Given the description of an element on the screen output the (x, y) to click on. 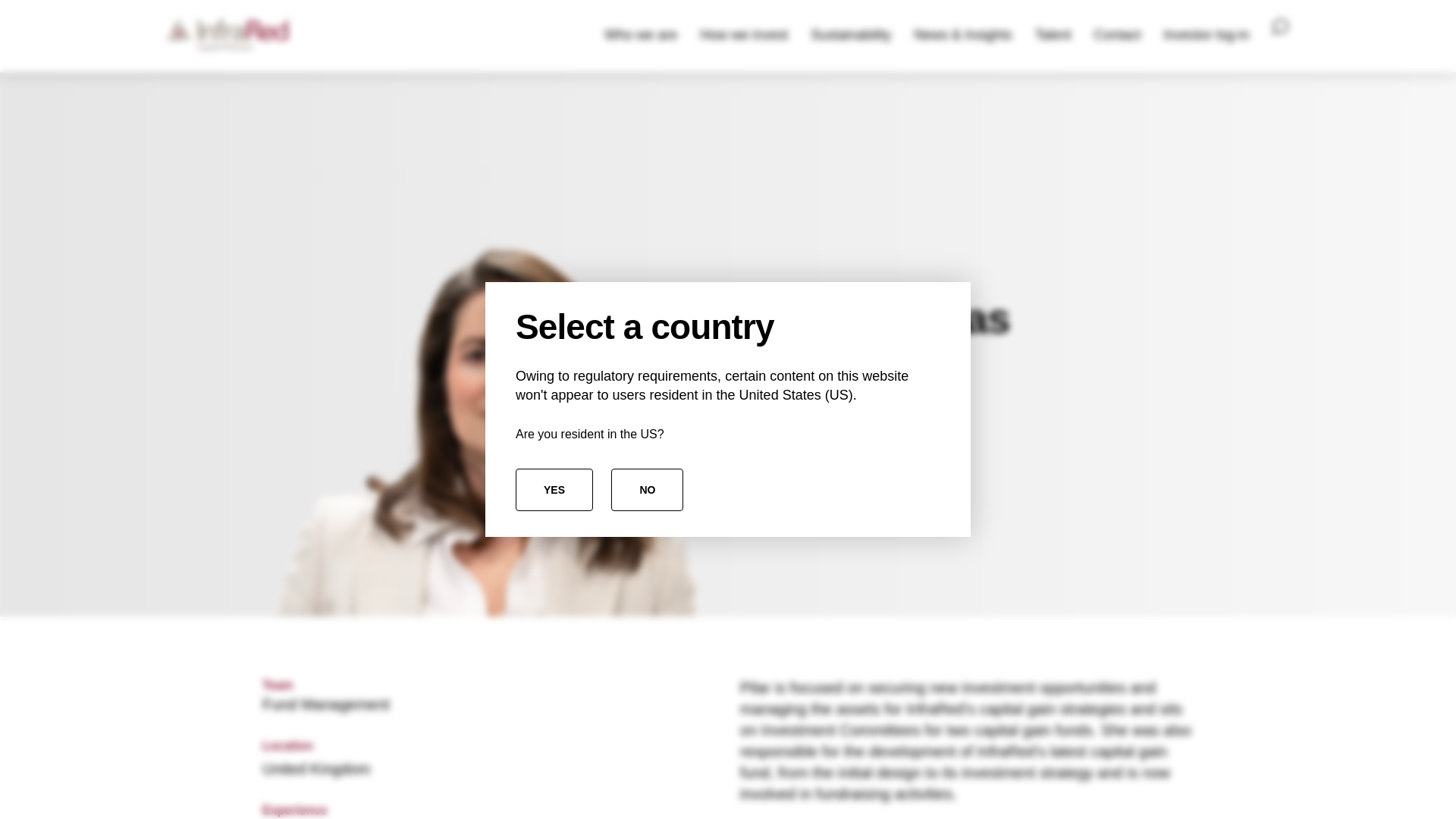
How we invest (743, 36)
Sustainability (850, 36)
InfraRed (227, 35)
Who we are (640, 36)
